Given the description of an element on the screen output the (x, y) to click on. 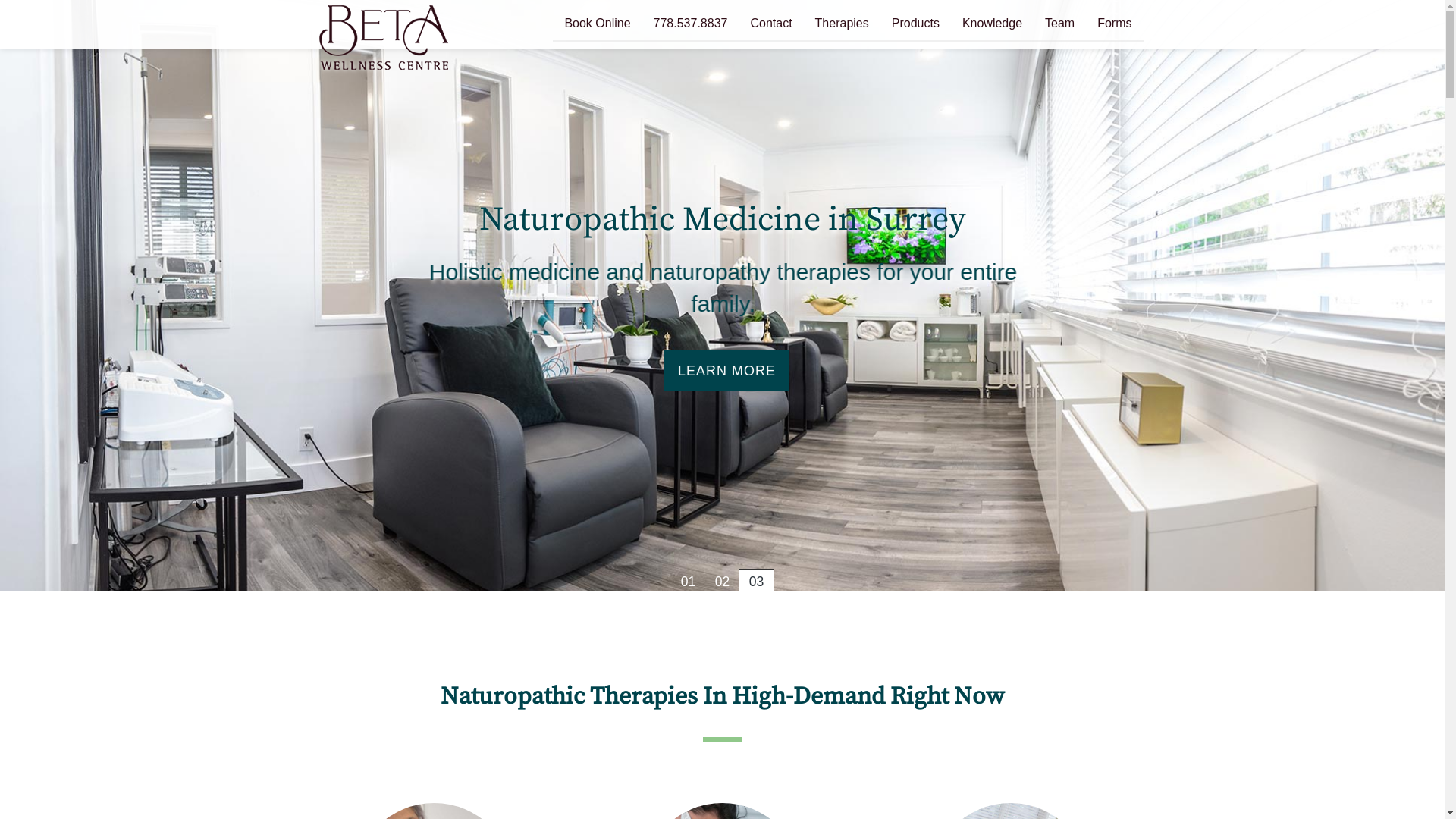
WELCOME! Element type: text (721, 369)
778.537.8837 Element type: text (690, 24)
Knowledge Element type: text (991, 24)
Book Online Element type: text (596, 24)
01 Element type: text (688, 579)
Therapies Element type: text (841, 24)
Products Element type: text (915, 24)
Team Element type: text (1059, 24)
Forms Element type: text (1113, 24)
02 Element type: text (722, 579)
03 Element type: text (756, 579)
Contact Element type: text (770, 24)
